Given the description of an element on the screen output the (x, y) to click on. 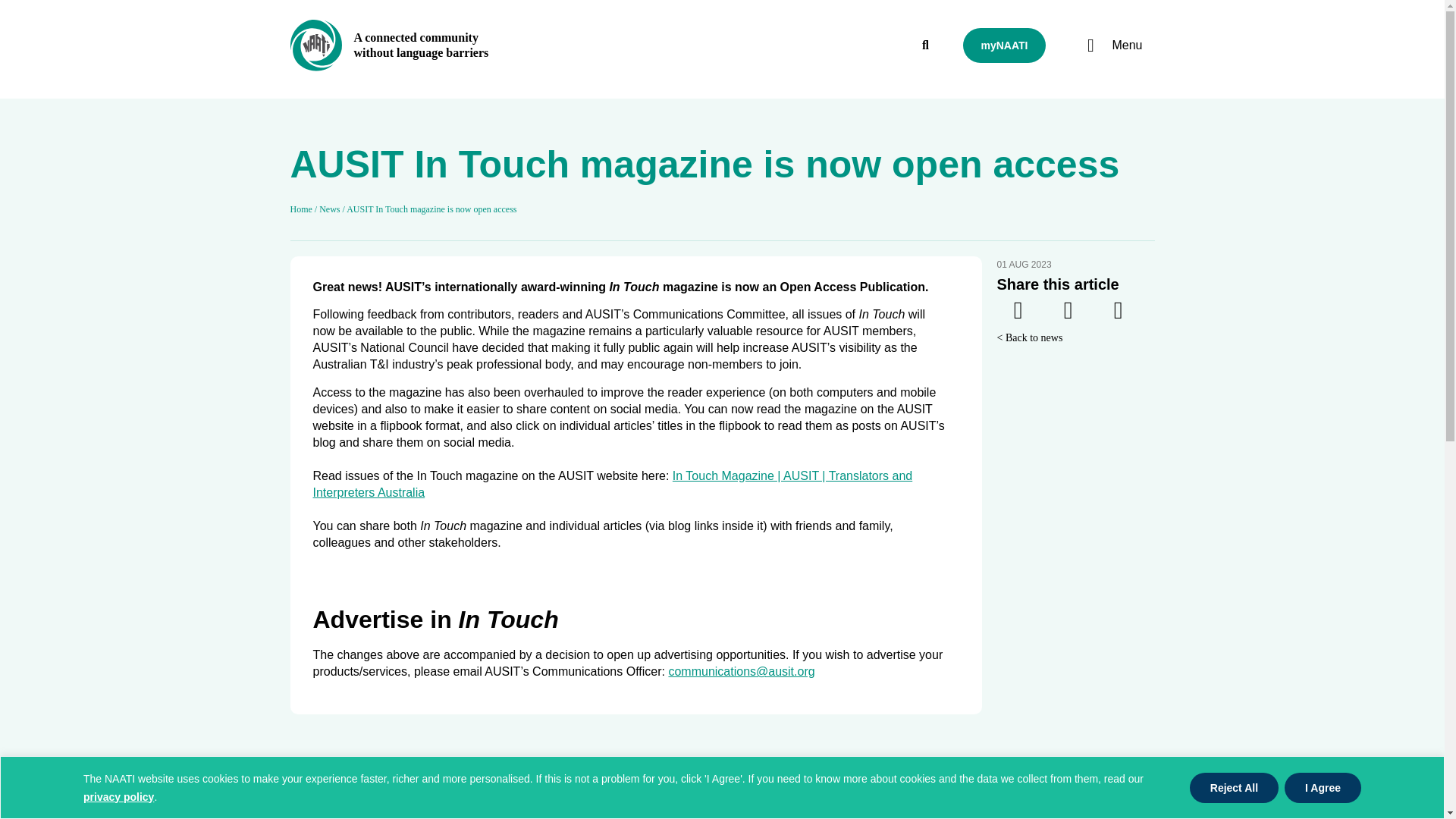
privacy policy (118, 796)
myNAATI (1004, 45)
Reject All (1233, 787)
A connected community without language barriers (420, 44)
I Agree (1322, 787)
Go to News. (328, 208)
Go to NAATI. (300, 208)
